Given the description of an element on the screen output the (x, y) to click on. 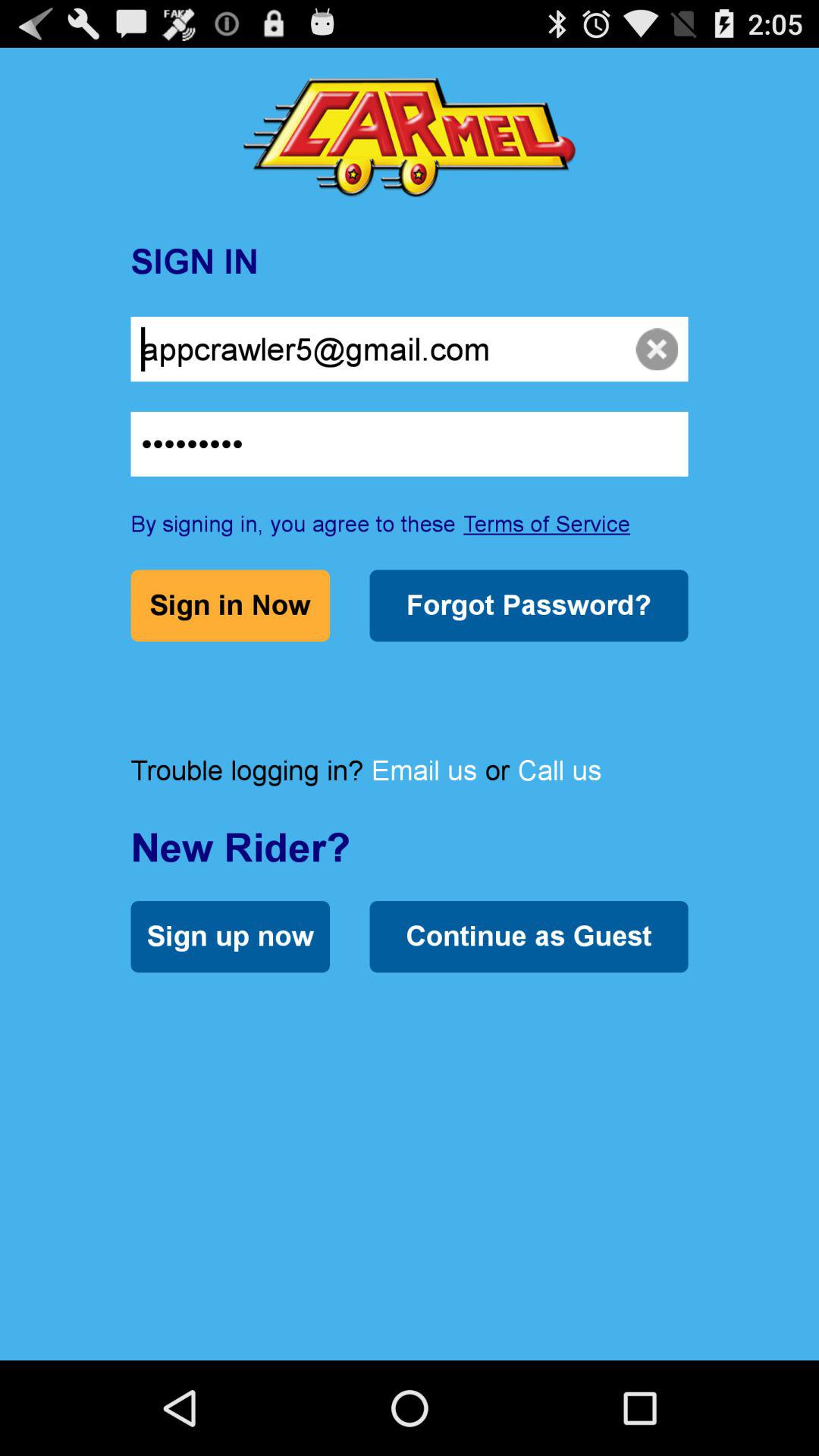
swipe to crowd3116 (409, 443)
